Given the description of an element on the screen output the (x, y) to click on. 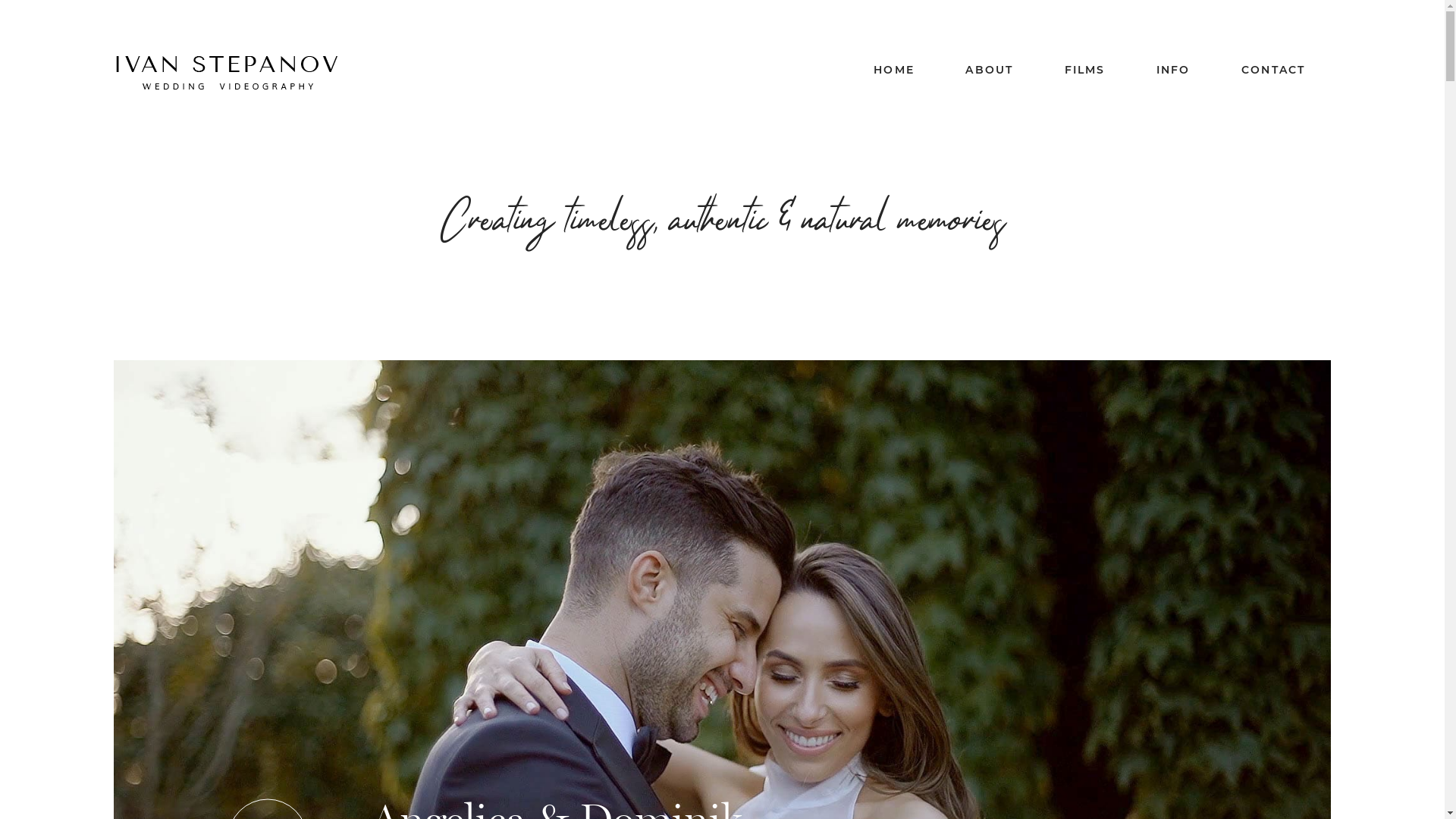
INFO Element type: text (1173, 69)
HOME Element type: text (893, 69)
ABOUT Element type: text (989, 69)
CONTACT Element type: text (1273, 69)
FILMS Element type: text (1084, 69)
